Given the description of an element on the screen output the (x, y) to click on. 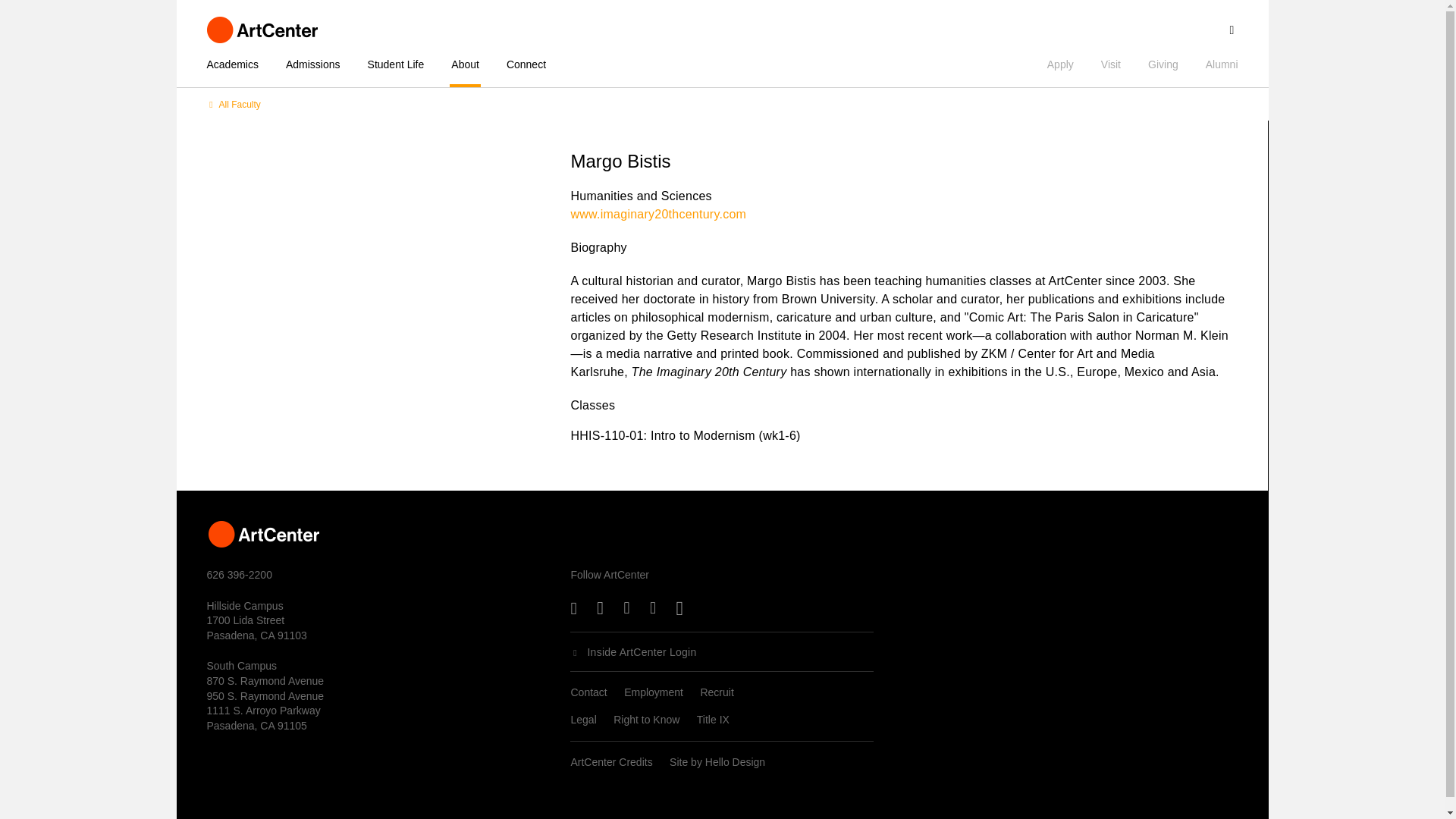
Academics (238, 63)
